Given the description of an element on the screen output the (x, y) to click on. 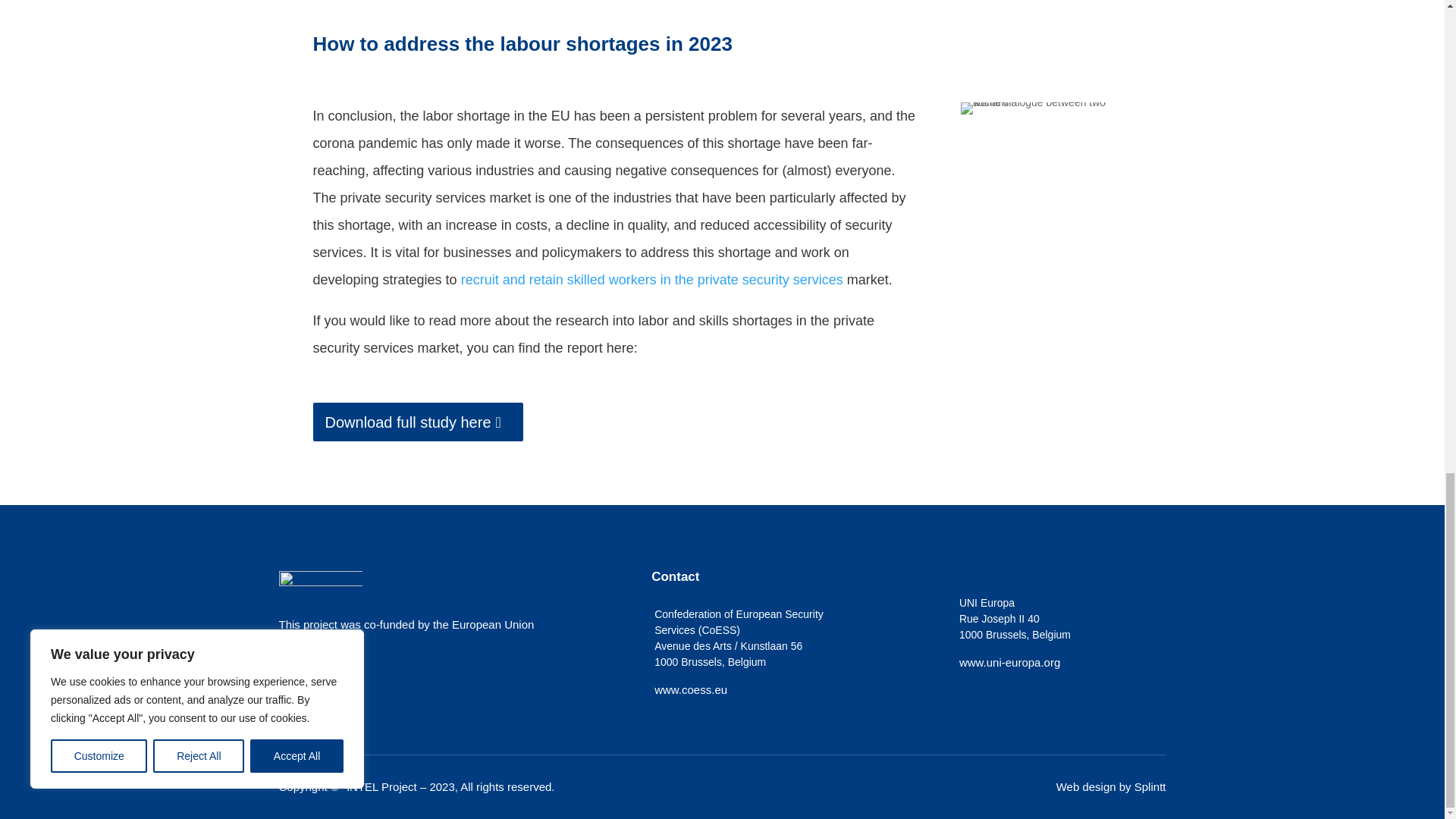
labour-man-planting-plants (1045, 108)
www.uni-europa.org (1009, 662)
www.coess.eu (689, 689)
Download full study here (417, 421)
